Given the description of an element on the screen output the (x, y) to click on. 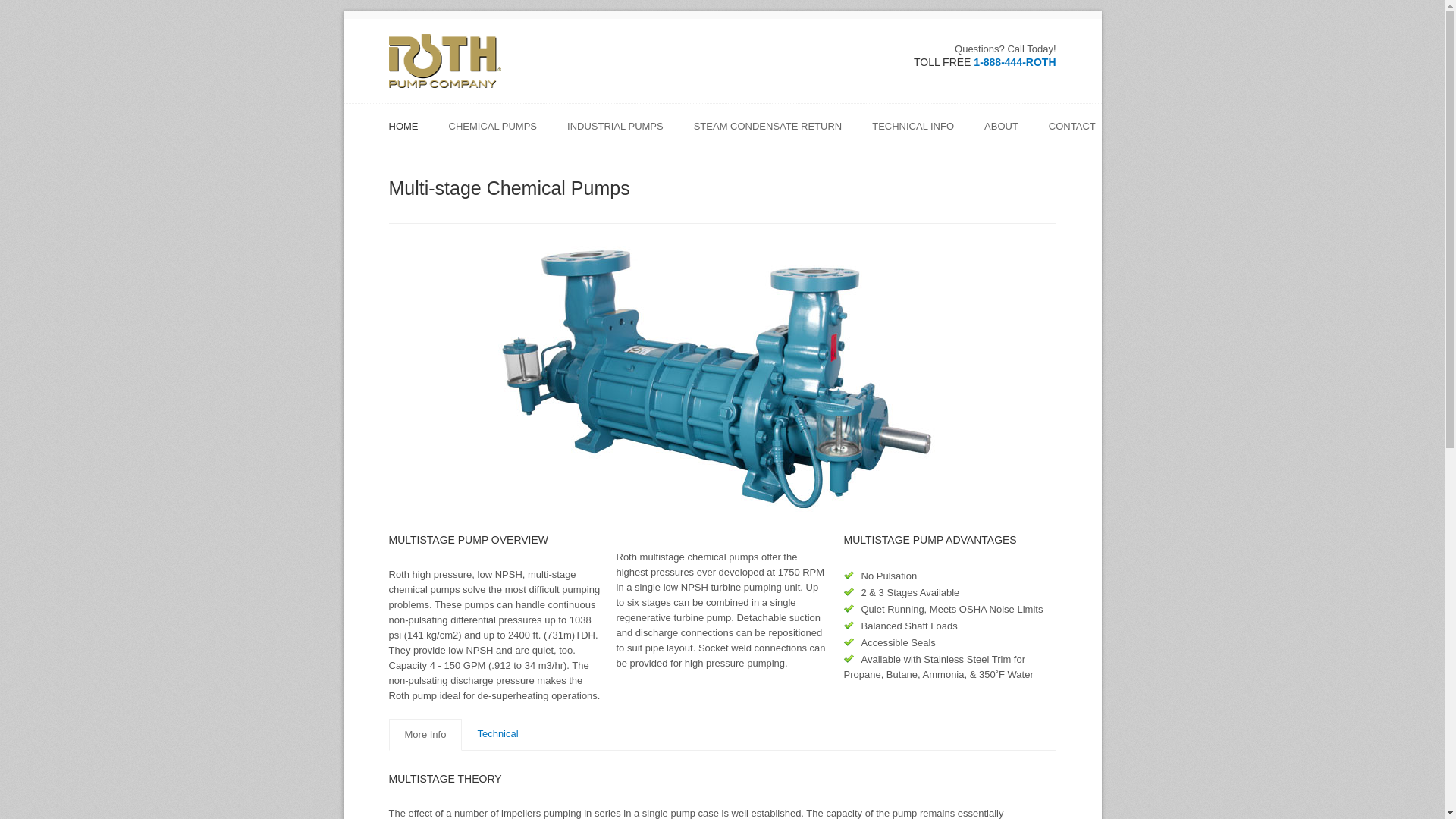
Technical (496, 734)
More Info (424, 735)
ABOUT (1008, 132)
1-888-444-ROTH (1014, 61)
CHEMICAL PUMPS (500, 132)
HOME (410, 132)
CONTACT (1072, 132)
TECHNICAL INFO (920, 132)
STEAM CONDENSATE RETURN (775, 132)
INDUSTRIAL PUMPS (622, 132)
